Given the description of an element on the screen output the (x, y) to click on. 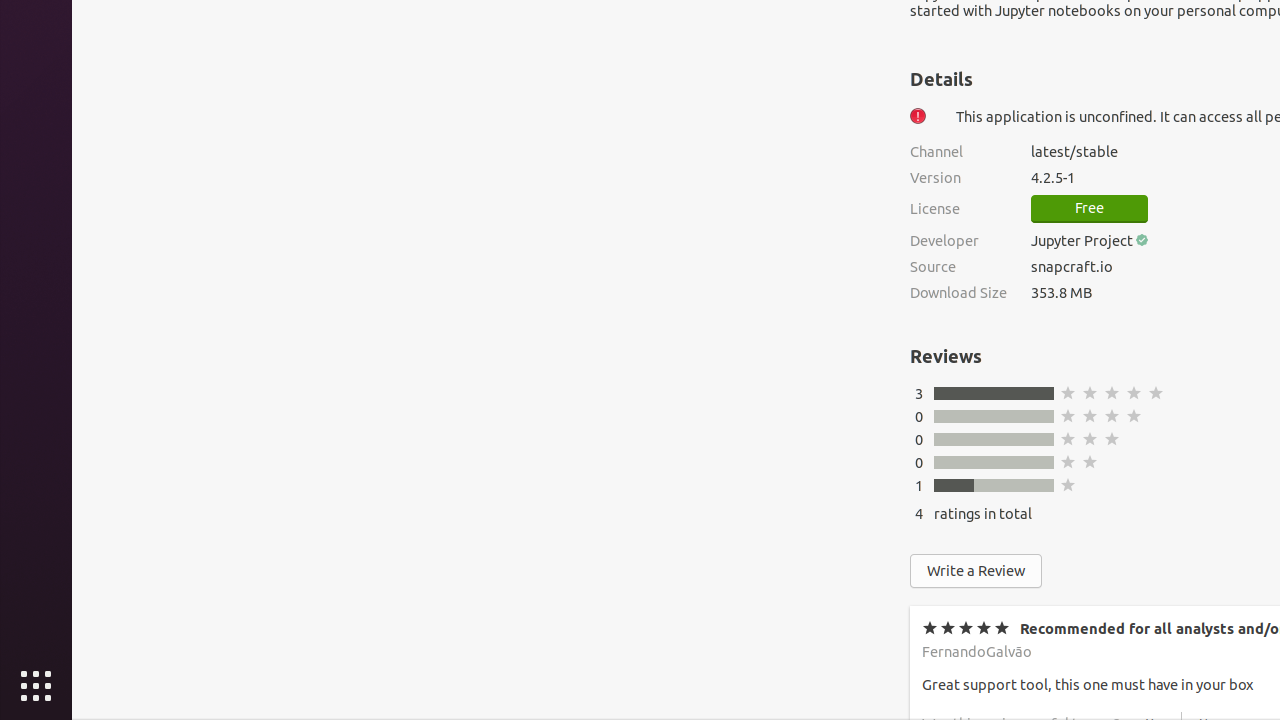
3 Element type: label (919, 393)
Developer Element type: label (958, 240)
0 Element type: label (919, 462)
Channel Element type: label (958, 151)
